Given the description of an element on the screen output the (x, y) to click on. 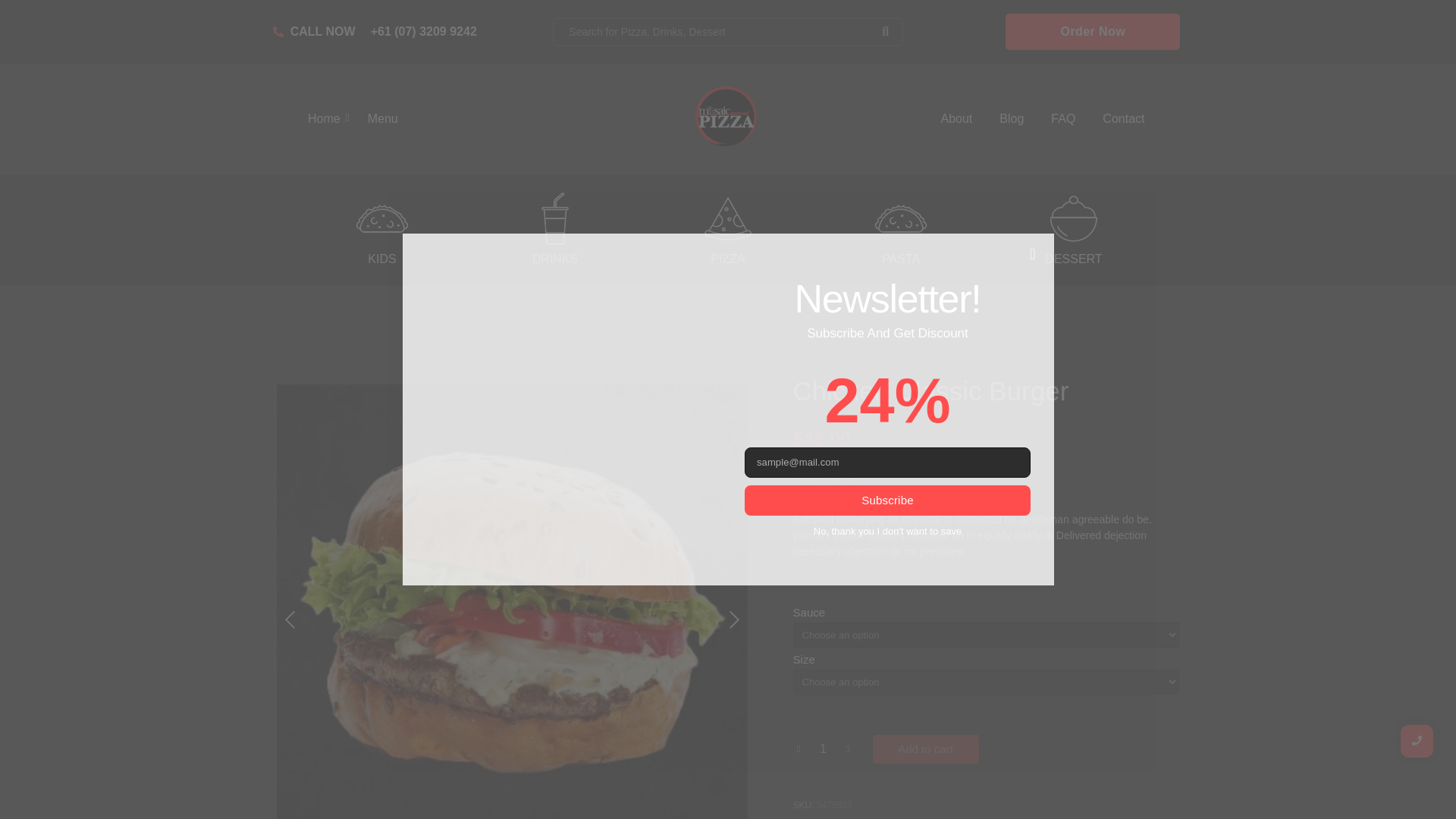
KIDS (382, 258)
Order Now (1092, 31)
FAQ (1063, 118)
Home (323, 118)
Search (710, 31)
About (956, 118)
Blog (1010, 118)
DESSERT (1073, 258)
1 (824, 748)
Menu (382, 118)
DRINKS (555, 258)
PIZZA (727, 258)
Contact (1122, 118)
PASTA (901, 258)
